Given the description of an element on the screen output the (x, y) to click on. 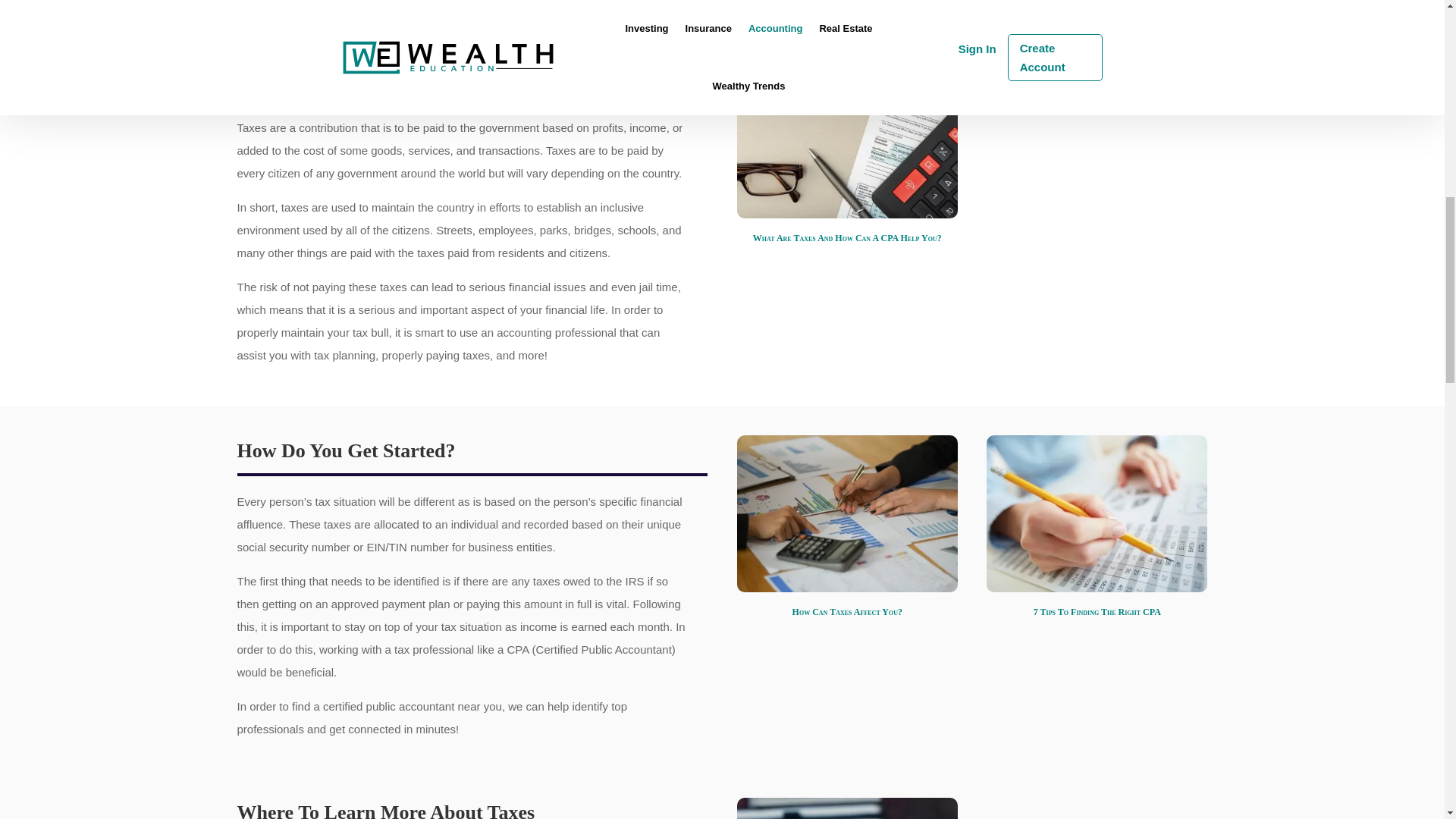
What Are Taxes And How Can A CPA Help You? (847, 139)
The Best Places To Learn About Tax (847, 808)
How Can Taxes Affect You? (847, 513)
7 Tips To Finding The Right CPA (1096, 611)
How Can Taxes Affect You? (847, 611)
7 Tips To Finding The Right CPA (1097, 513)
What Are Taxes And How Can A CPA Help You? (847, 237)
